Given the description of an element on the screen output the (x, y) to click on. 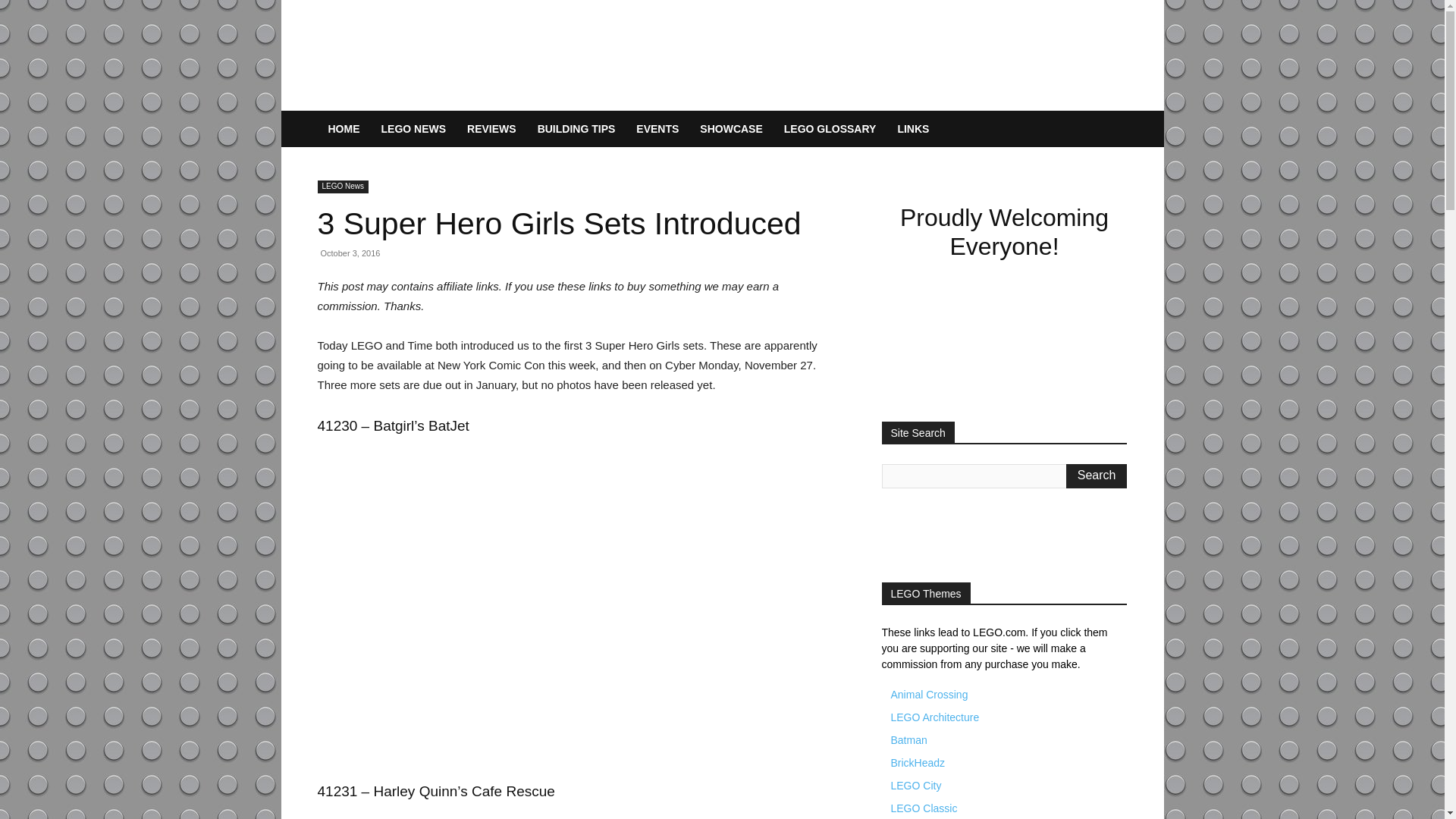
SHOWCASE (730, 128)
EVENTS (657, 128)
HOME (343, 128)
Search (1095, 476)
LINKS (912, 128)
REVIEWS (492, 128)
LEGO GLOSSARY (829, 128)
LEGO News (342, 186)
LEGO NEWS (413, 128)
BUILDING TIPS (576, 128)
